Given the description of an element on the screen output the (x, y) to click on. 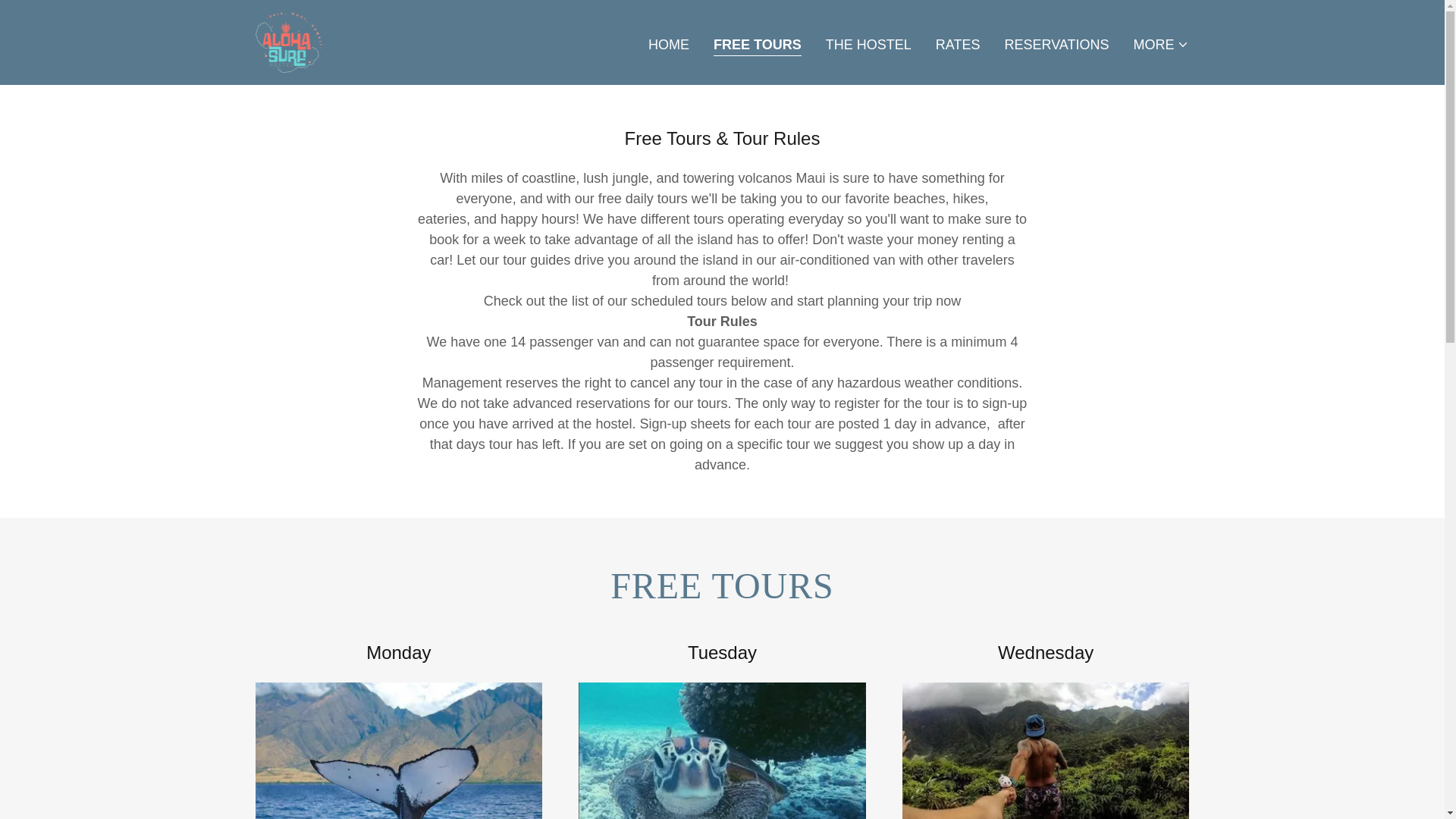
HOME (668, 43)
THE HOSTEL (868, 43)
MORE (1160, 44)
RESERVATIONS (1055, 43)
RATES (958, 43)
FREE TOURS (757, 45)
